Given the description of an element on the screen output the (x, y) to click on. 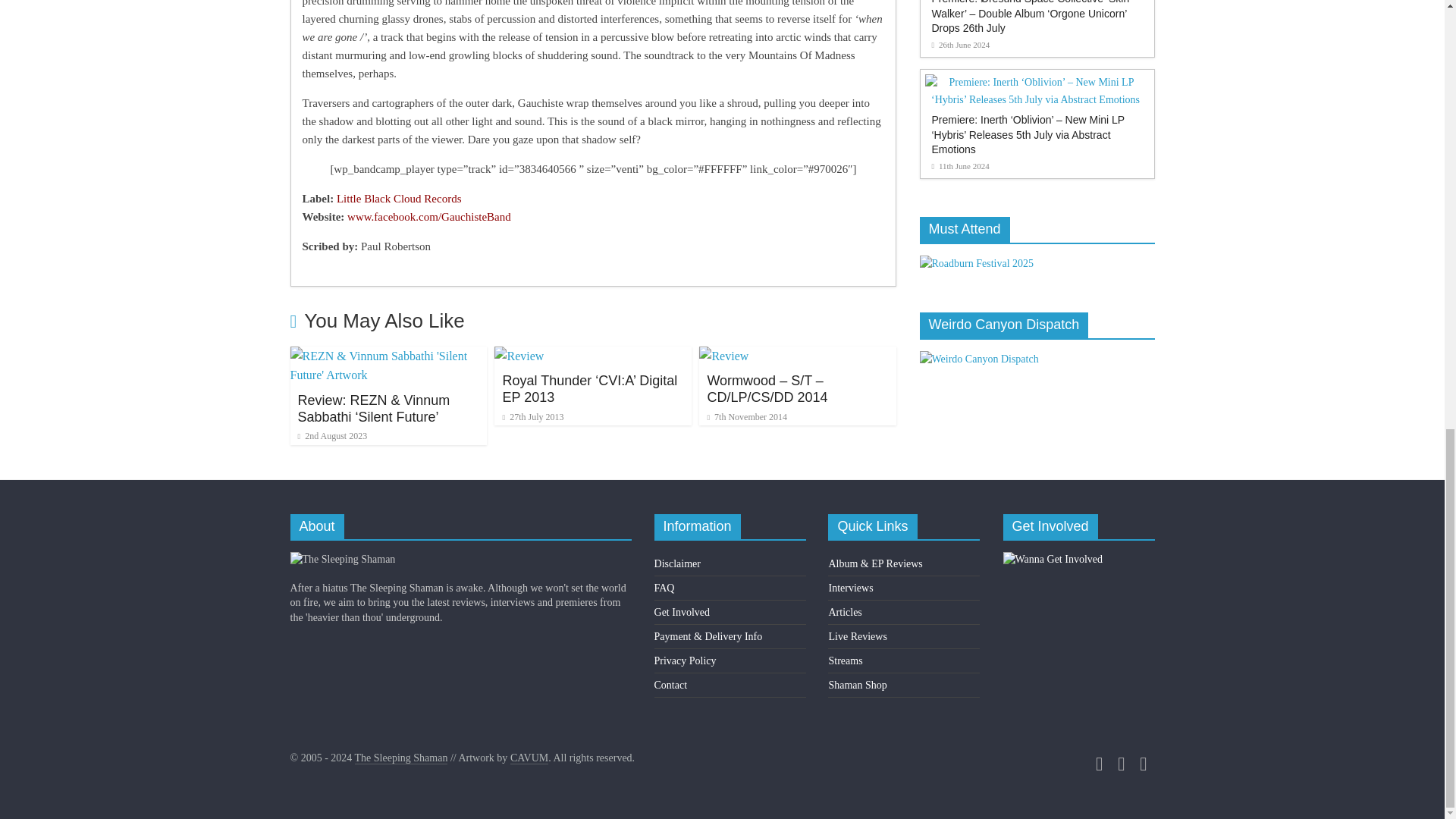
10:00 am (331, 435)
